Given the description of an element on the screen output the (x, y) to click on. 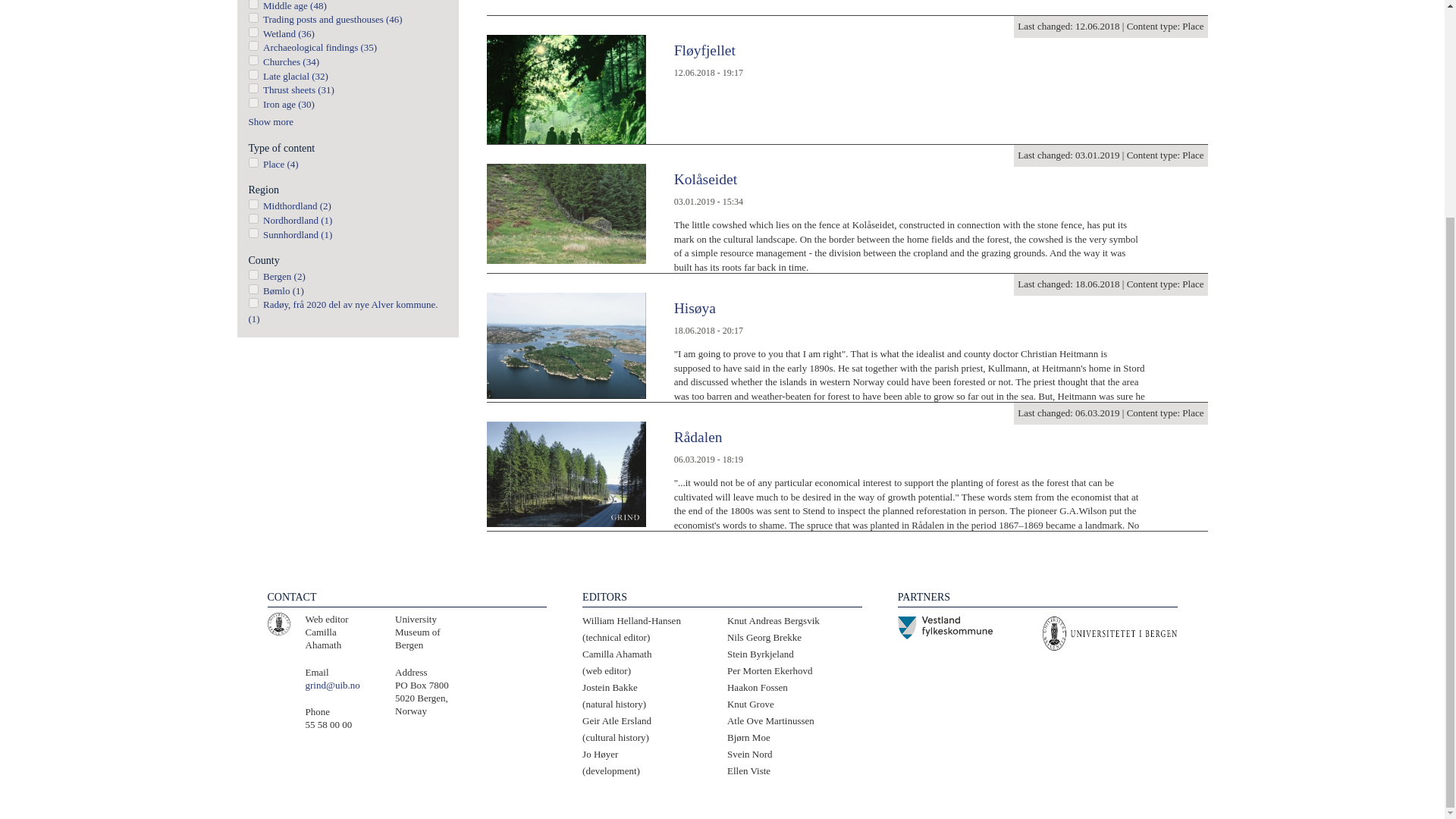
on (253, 45)
on (253, 60)
on (253, 4)
on (253, 233)
on (253, 31)
on (253, 218)
on (253, 74)
on (253, 17)
on (253, 204)
Universitetet i bergen logo (277, 623)
